Given the description of an element on the screen output the (x, y) to click on. 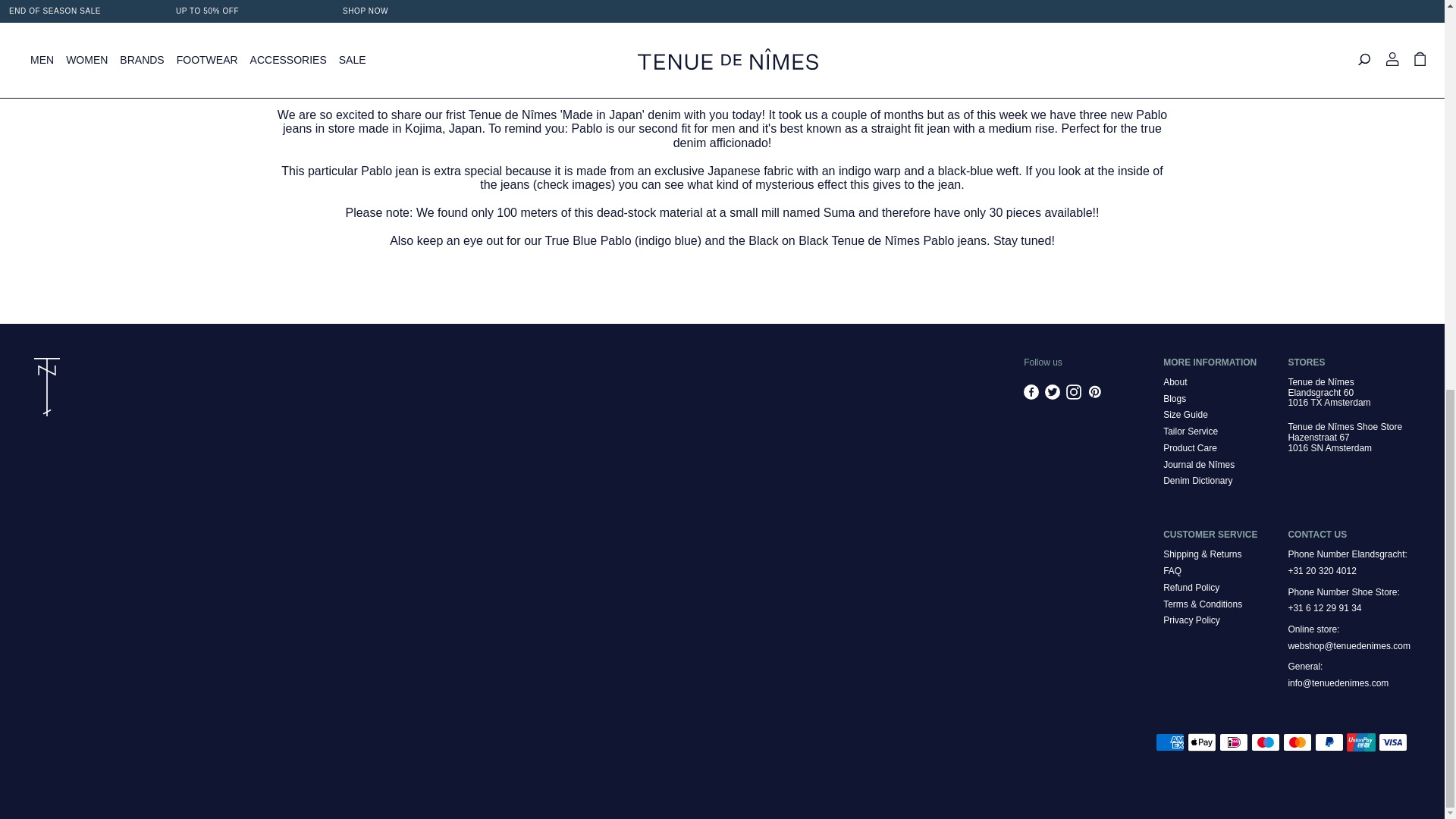
Refund Policy (1191, 587)
Union Pay (1360, 742)
Mastercard (1296, 742)
PayPal (1328, 742)
Size Guide (1185, 414)
Privacy Policy (1191, 620)
iDEAL (1233, 742)
Blogs (1174, 398)
Apple Pay (1201, 742)
American Express (1170, 742)
